Given the description of an element on the screen output the (x, y) to click on. 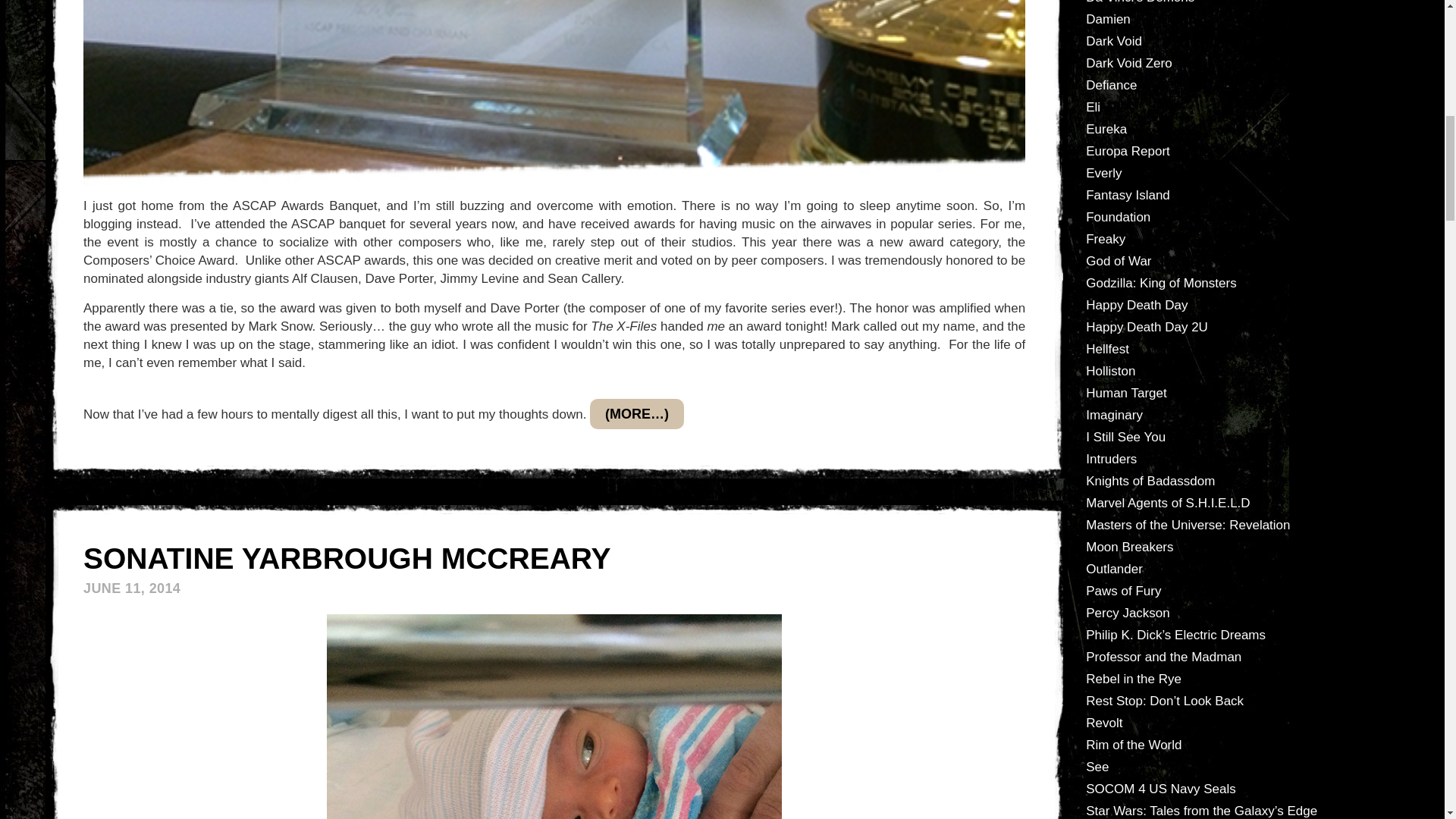
SONATINE YARBROUGH MCCREARY (346, 558)
